Given the description of an element on the screen output the (x, y) to click on. 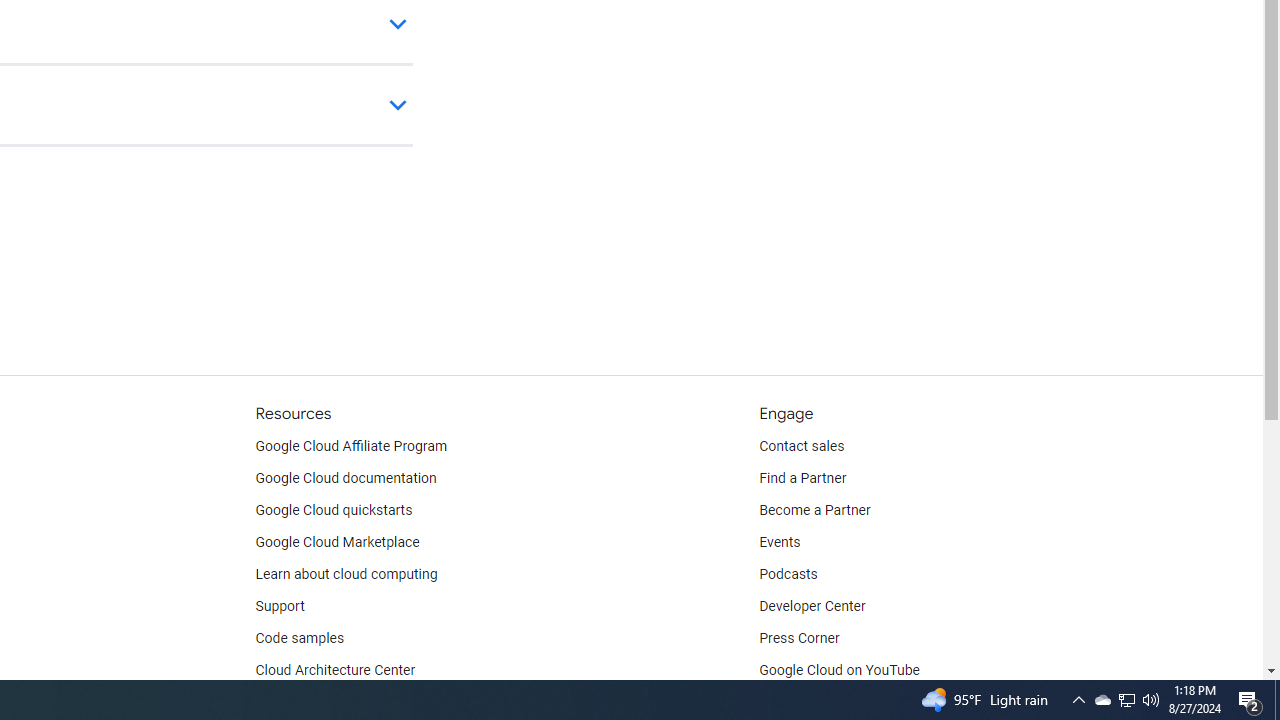
Find a Partner (803, 478)
Google Cloud quickstarts (333, 511)
